Given the description of an element on the screen output the (x, y) to click on. 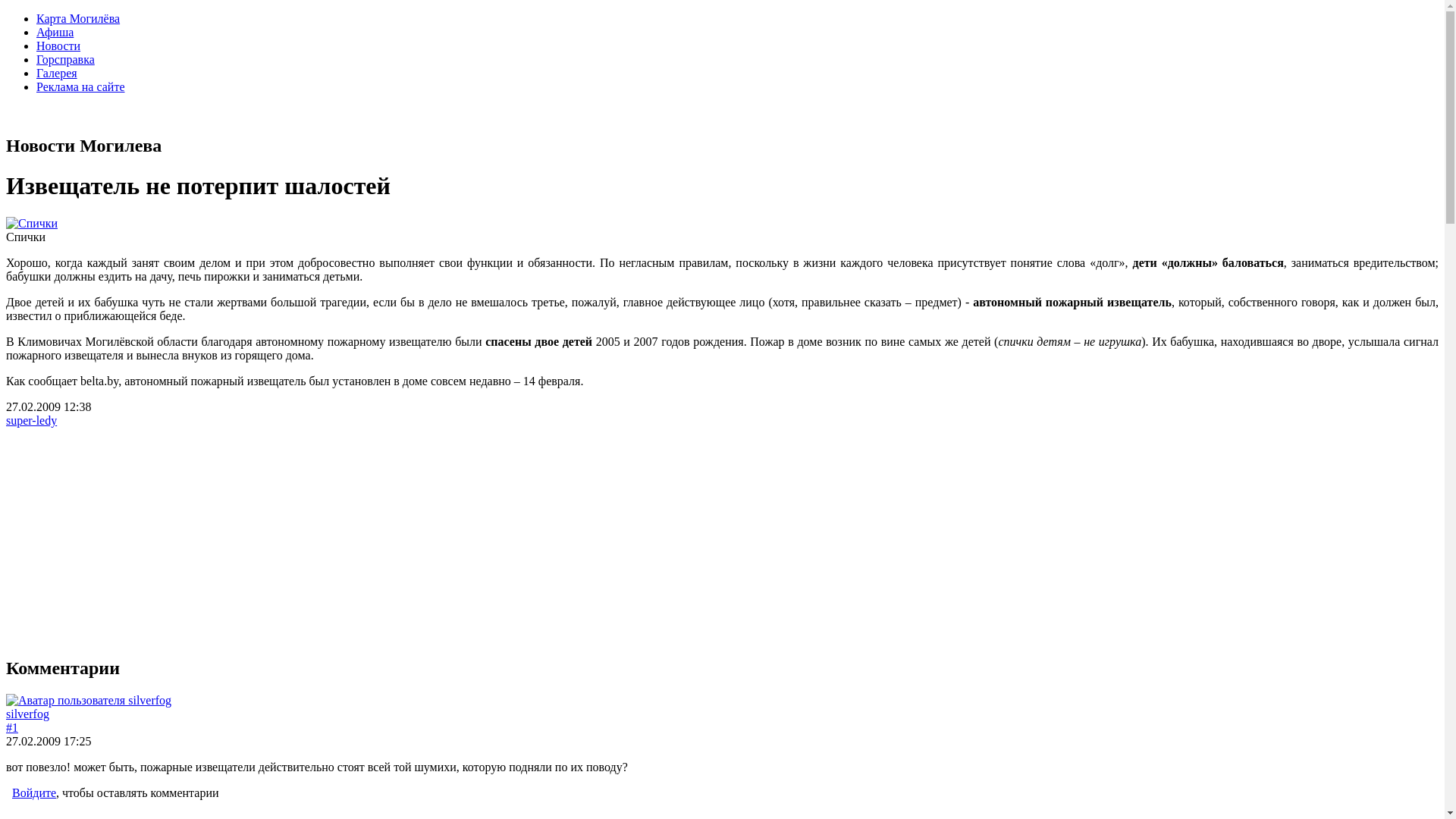
#1 Element type: text (12, 727)
silverfog Element type: text (27, 713)
super-ledy Element type: text (31, 420)
